Given the description of an element on the screen output the (x, y) to click on. 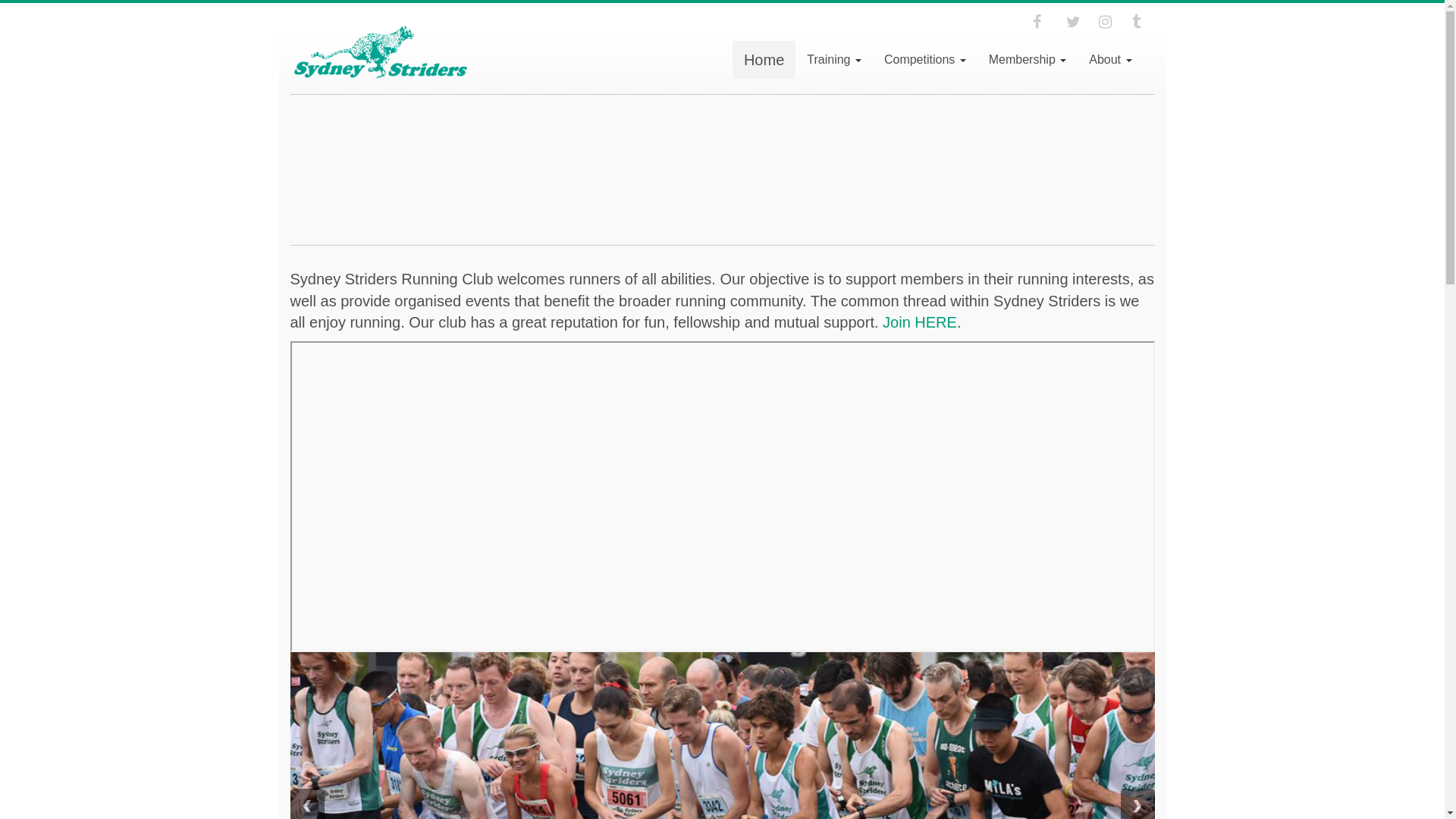
Training Element type: text (833, 59)
Sydney Striders Instagram Element type: hover (1109, 21)
  Element type: text (1043, 21)
facebook Element type: hover (1043, 21)
Competitions Element type: text (924, 59)
Home Element type: text (763, 59)
twitter Element type: hover (1077, 21)
Sydney Striders Tumblr Element type: hover (1142, 21)
   Element type: text (1142, 21)
Membership Element type: text (1027, 59)
About Element type: text (1109, 59)
Join HERE Element type: text (919, 321)
  Element type: text (1077, 21)
